Given the description of an element on the screen output the (x, y) to click on. 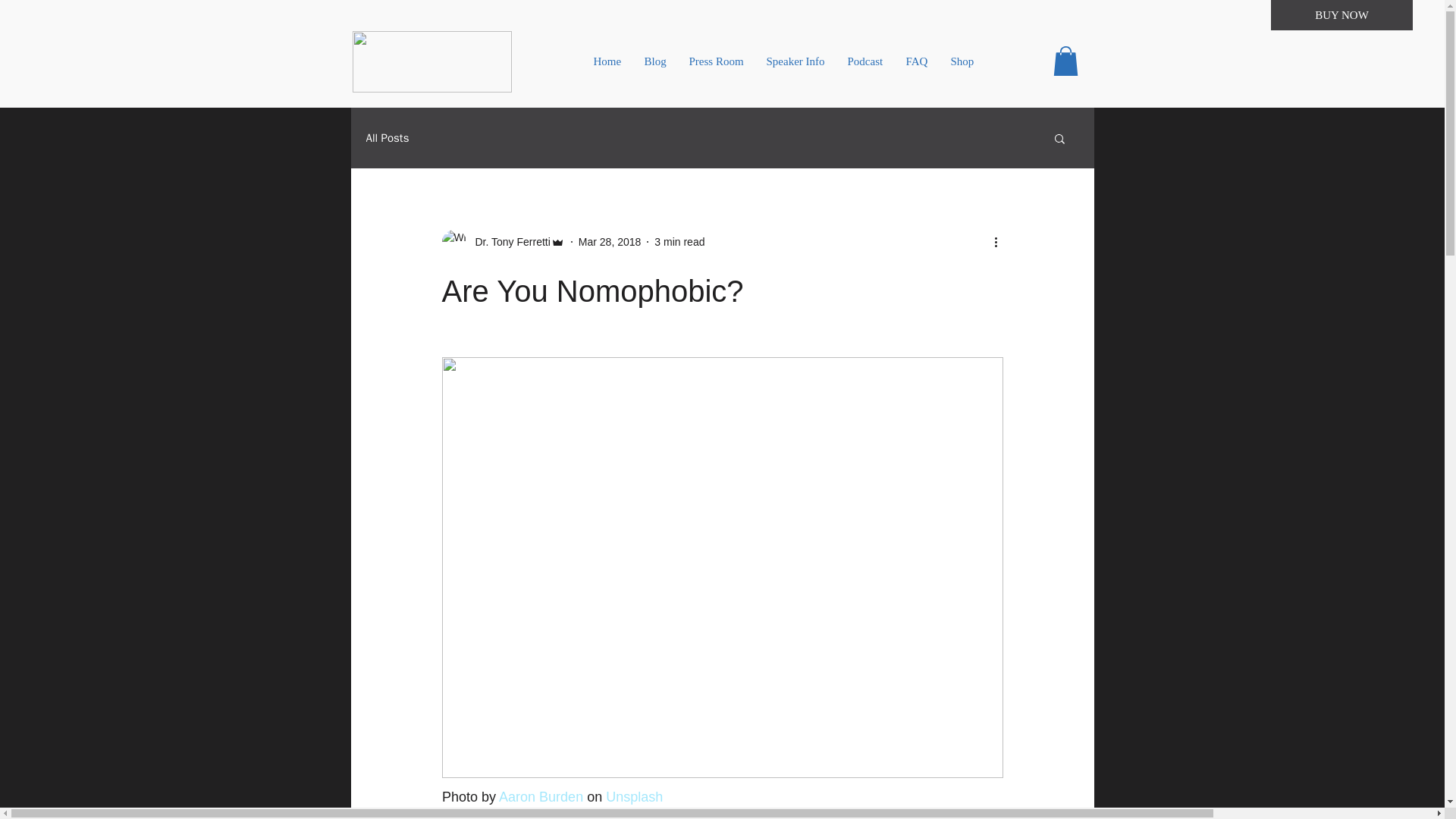
Shop (962, 61)
Aaron Burden (541, 796)
Home (607, 61)
Mar 28, 2018 (610, 241)
3 min read (678, 241)
Blog (654, 61)
Press Room (716, 61)
Podcast (864, 61)
Unsplash (633, 796)
Dr. Tony Ferretti (502, 241)
All Posts (387, 138)
FAQ (917, 61)
Speaker Info (795, 61)
BUY NOW (1341, 15)
Dr. Tony Ferretti (507, 242)
